Given the description of an element on the screen output the (x, y) to click on. 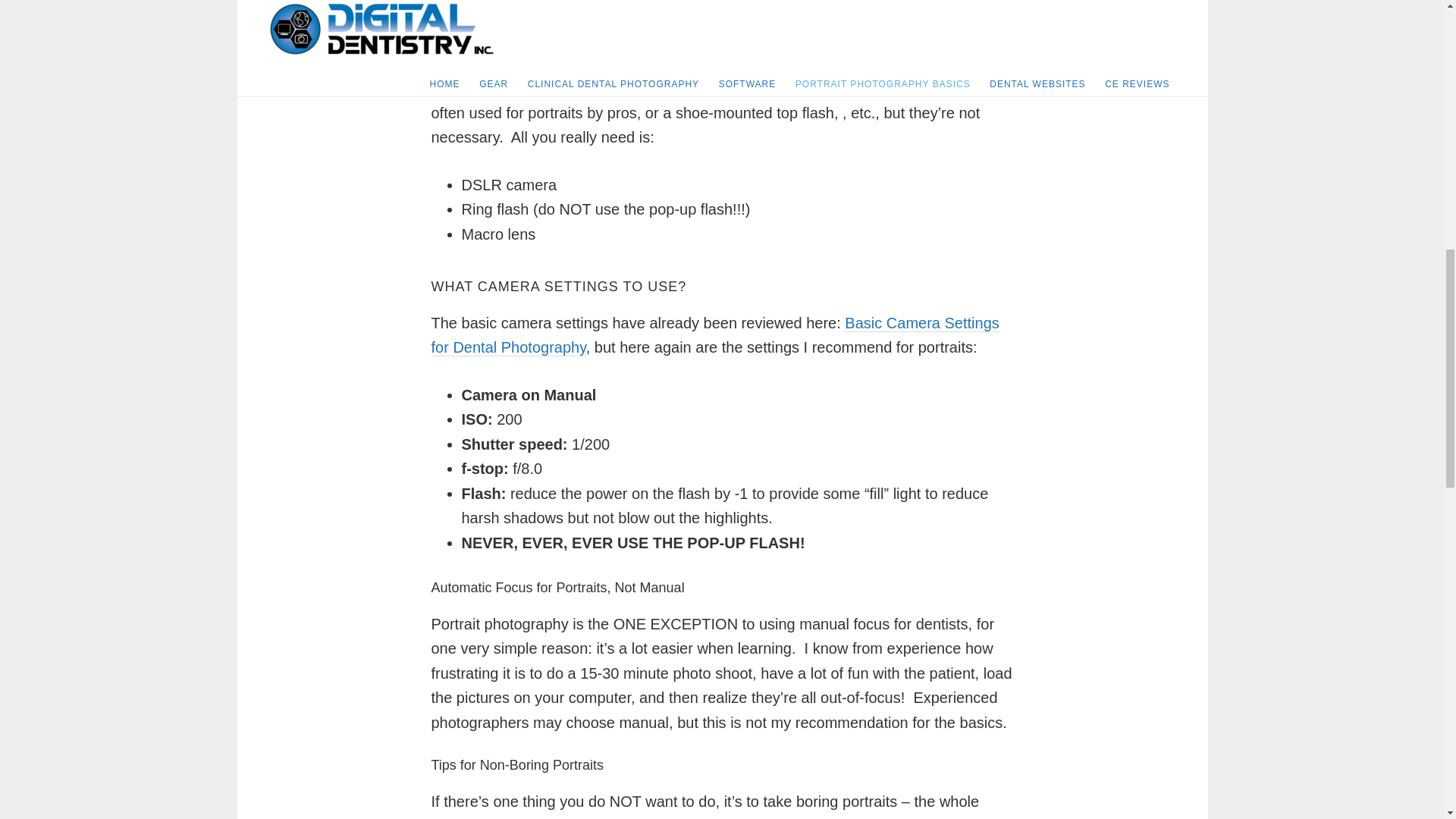
Basic Camera Settings for Dental Photography (714, 335)
Dental portrait camera settings (714, 335)
